Given the description of an element on the screen output the (x, y) to click on. 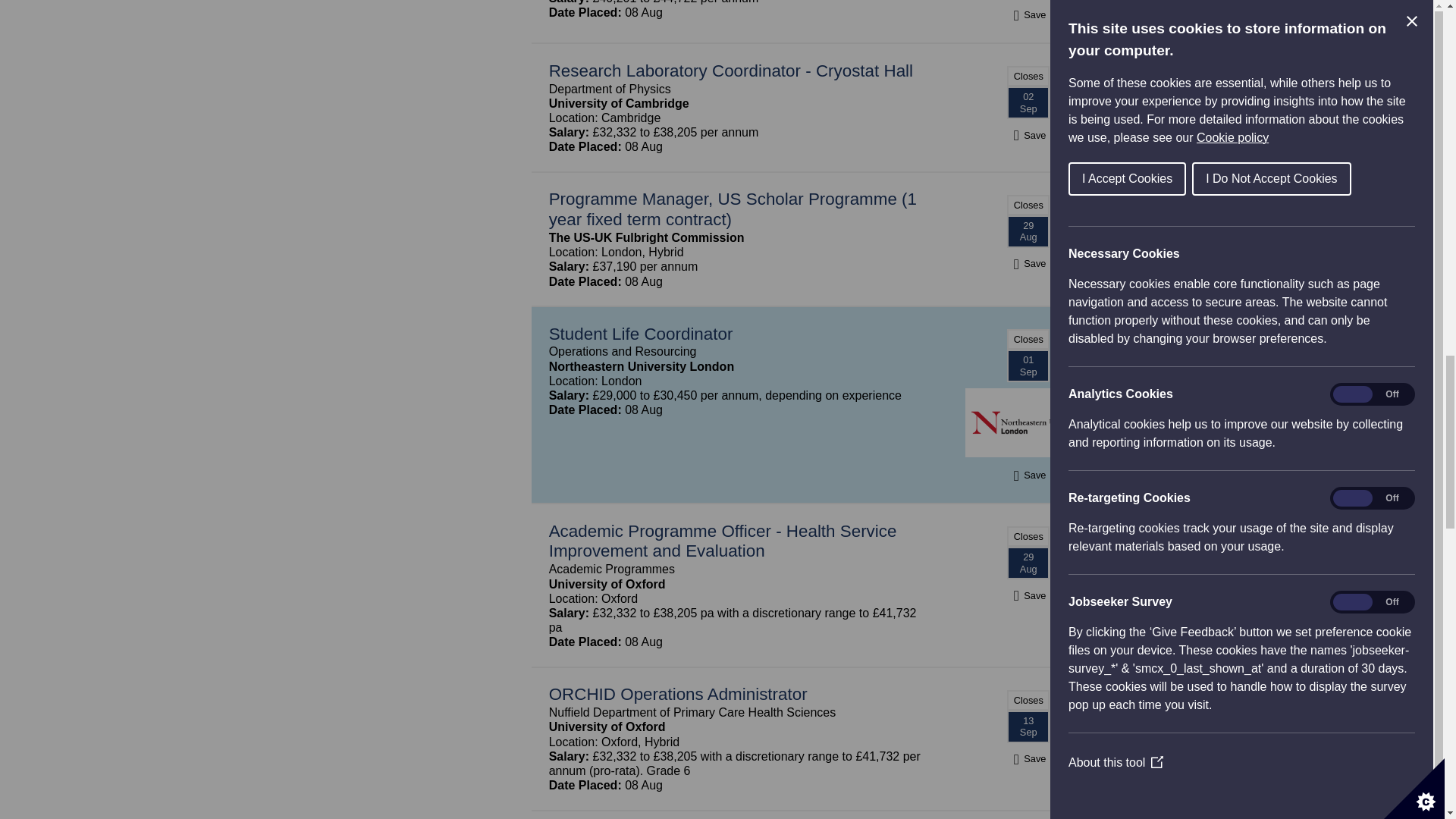
Save job (1027, 263)
Save job (1027, 595)
Save job (1027, 14)
Save job (1027, 134)
Save job (1027, 474)
